Given the description of an element on the screen output the (x, y) to click on. 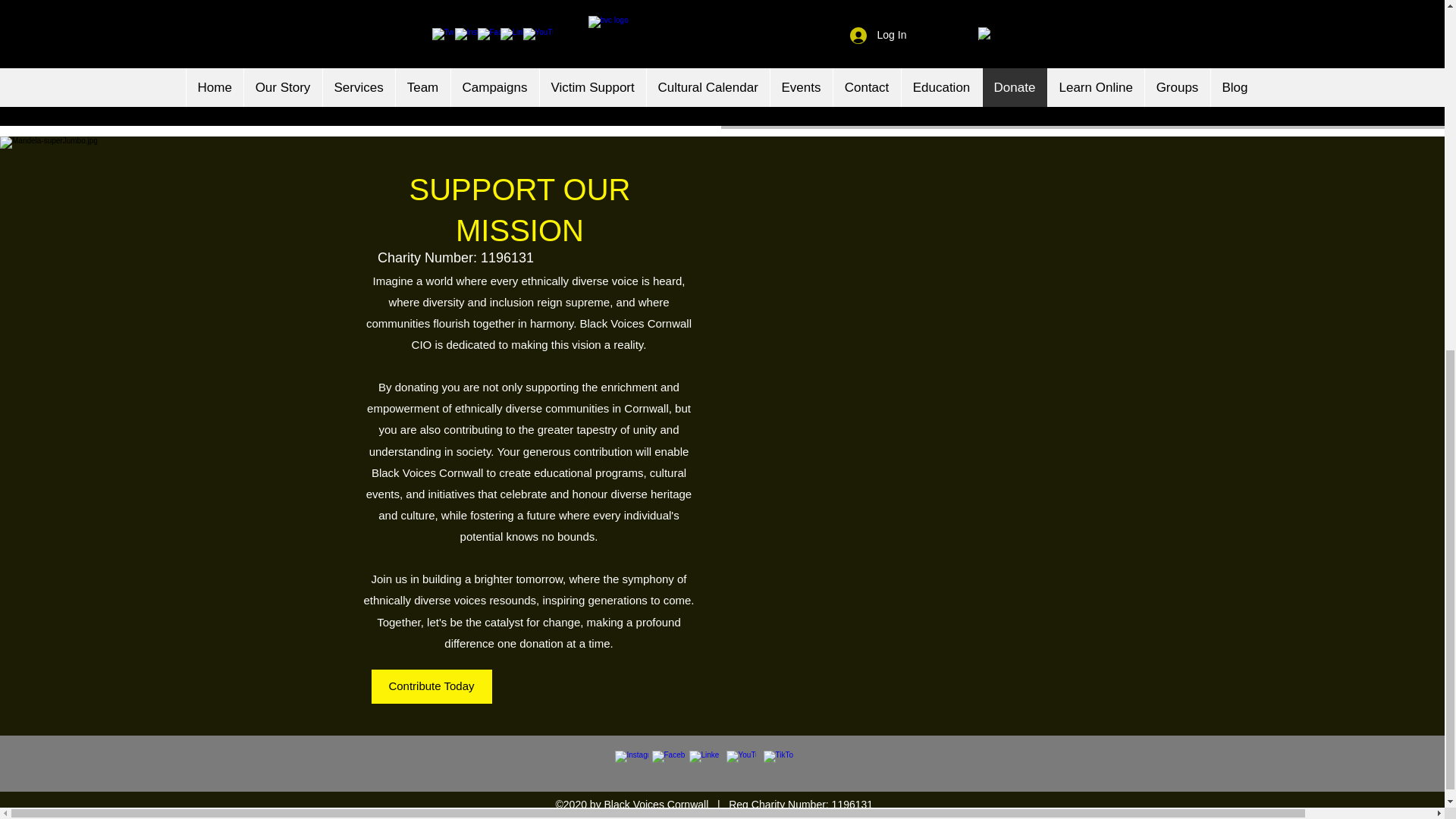
Donate (360, 4)
Contribute Today (431, 686)
